Given the description of an element on the screen output the (x, y) to click on. 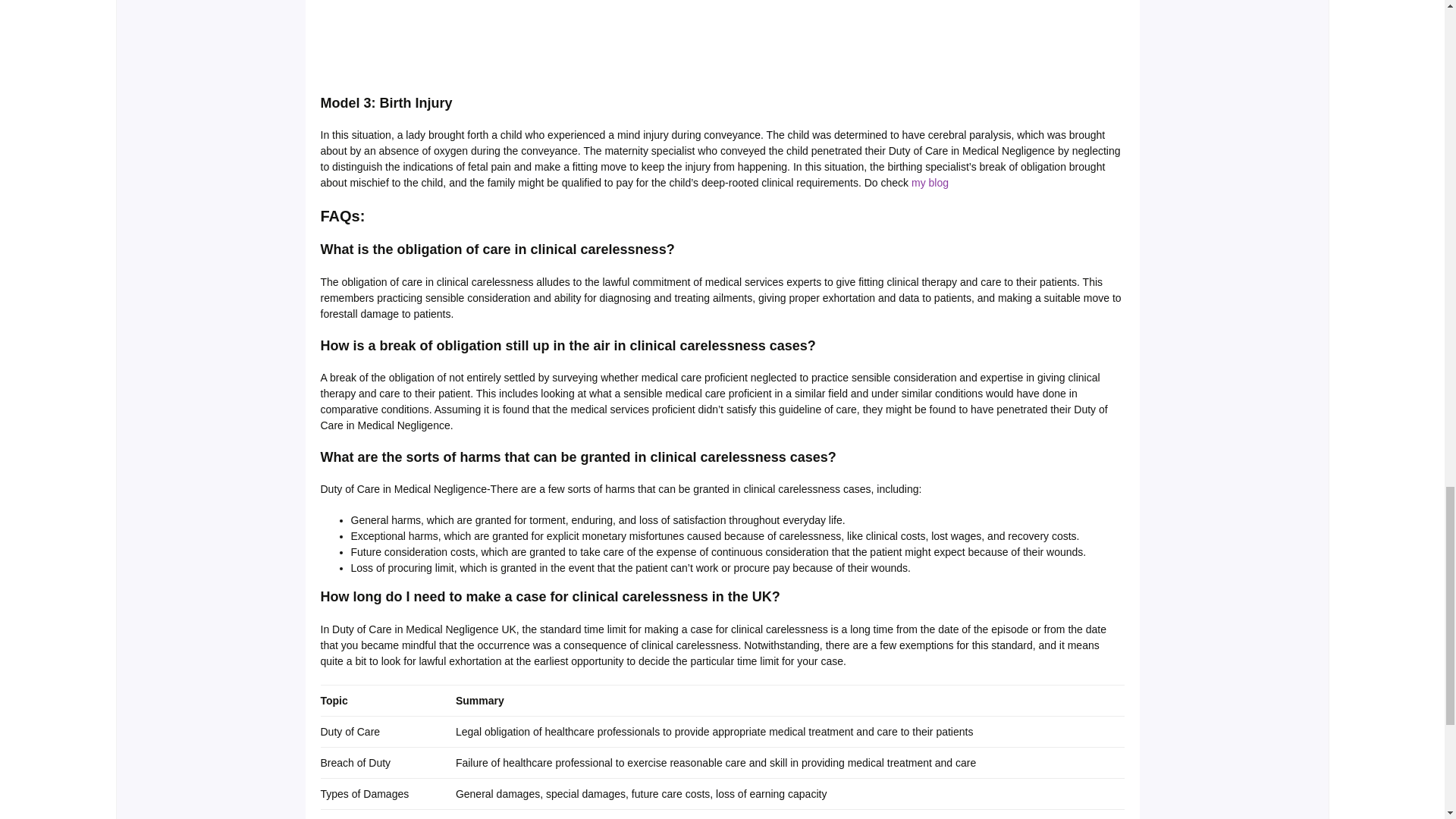
my blog (930, 182)
